Given the description of an element on the screen output the (x, y) to click on. 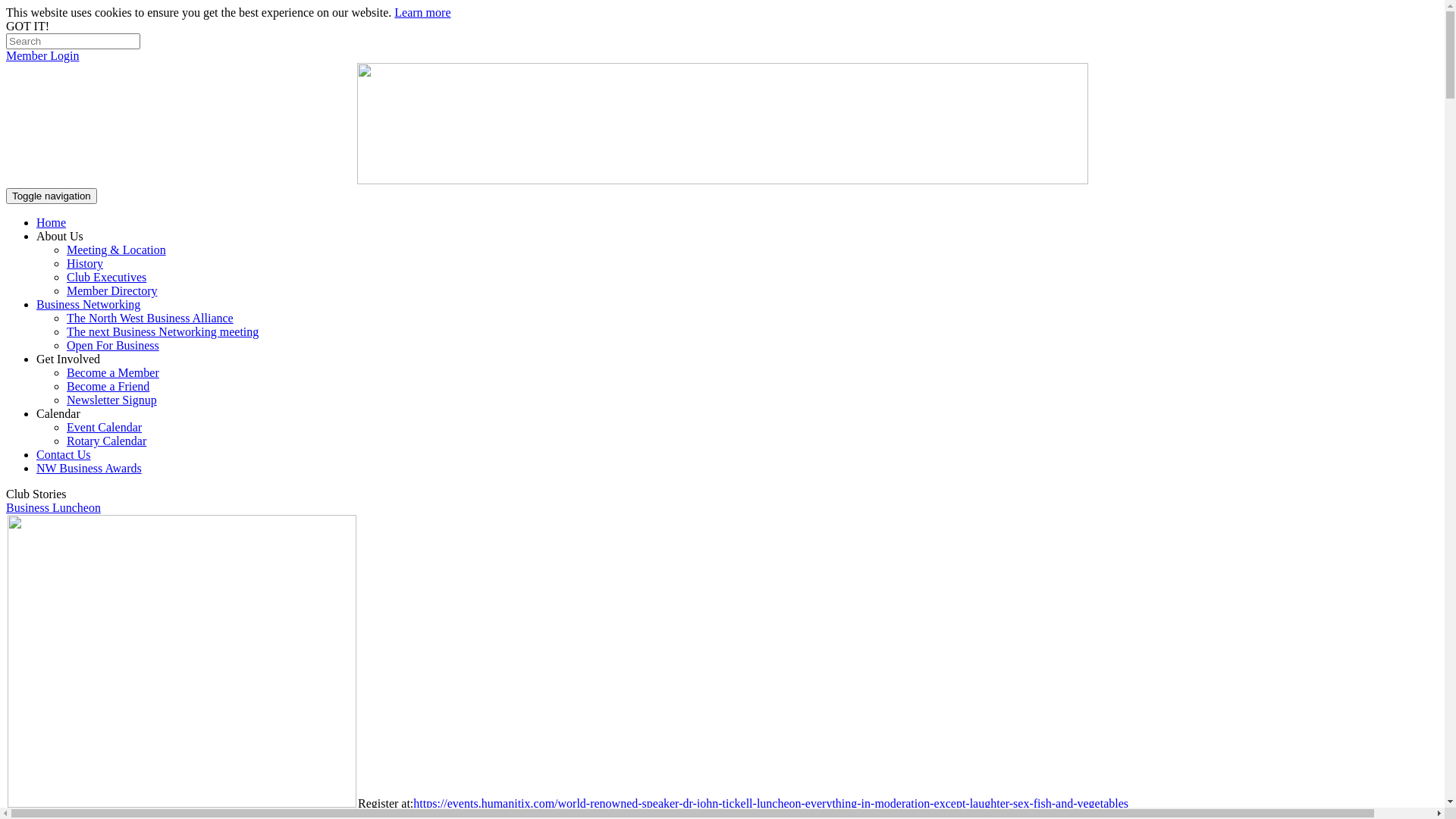
Become a Member Element type: text (112, 372)
Event Calendar Element type: text (103, 426)
NW Business Awards Element type: text (88, 467)
Home Element type: text (50, 222)
Become a Friend Element type: text (107, 385)
Member Login Element type: text (42, 55)
Business Luncheon Element type: text (53, 507)
Business Networking Element type: text (88, 304)
Toggle navigation Element type: text (51, 195)
Newsletter Signup Element type: text (111, 399)
The North West Business Alliance Element type: text (149, 317)
Learn more Element type: text (422, 12)
Meeting & Location Element type: text (116, 249)
Rotary Calendar Element type: text (106, 440)
Get Involved Element type: text (68, 358)
Member Directory Element type: text (111, 290)
Calendar Element type: text (58, 413)
About Us Element type: text (59, 235)
GOT IT! Element type: text (27, 25)
History Element type: text (84, 263)
The next Business Networking meeting Element type: text (162, 331)
Contact Us Element type: text (63, 454)
Open For Business Element type: text (112, 344)
Club Executives Element type: text (106, 276)
